Given the description of an element on the screen output the (x, y) to click on. 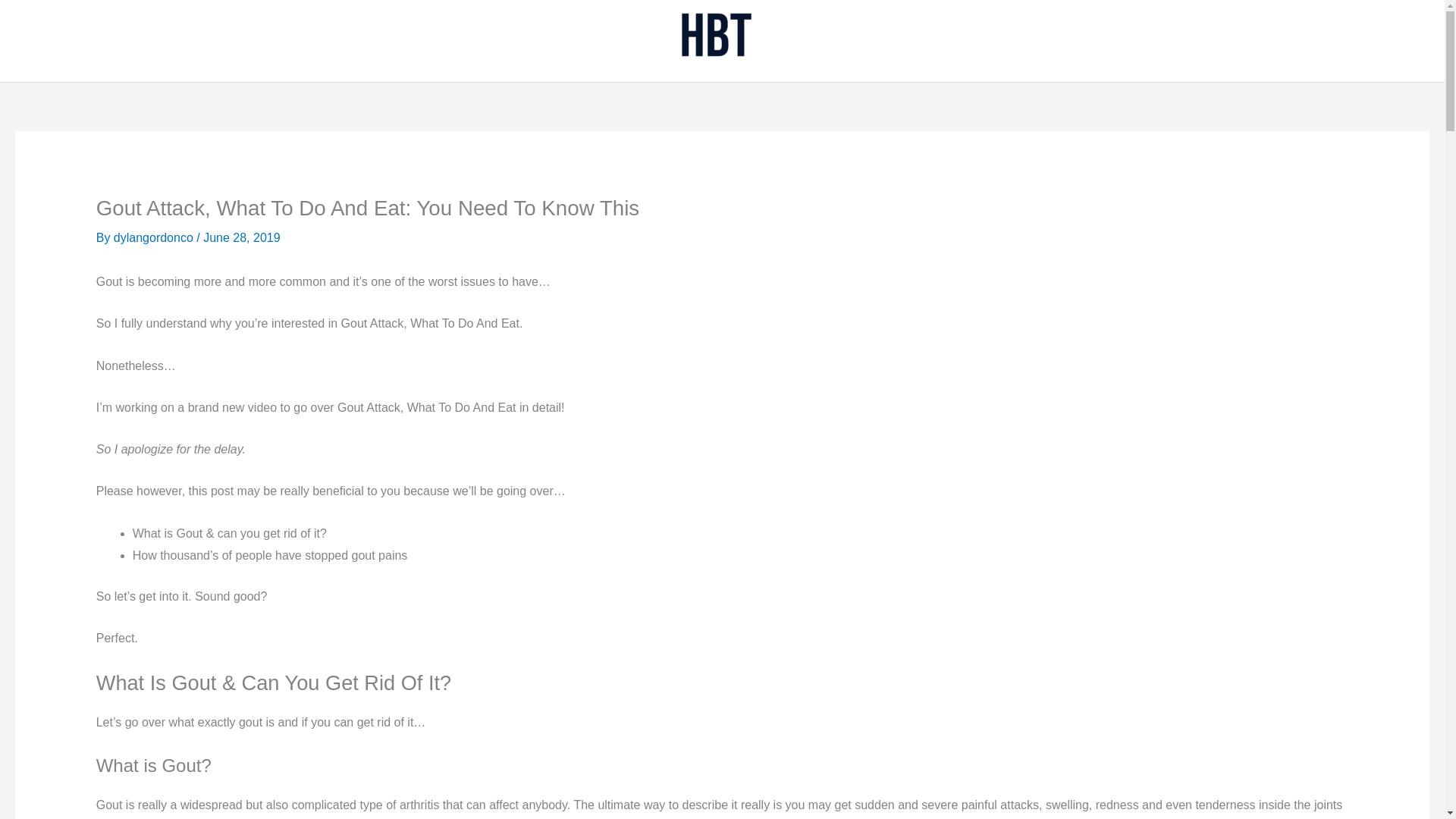
View all posts by dylangordonco (154, 237)
dylangordonco (154, 237)
